Given the description of an element on the screen output the (x, y) to click on. 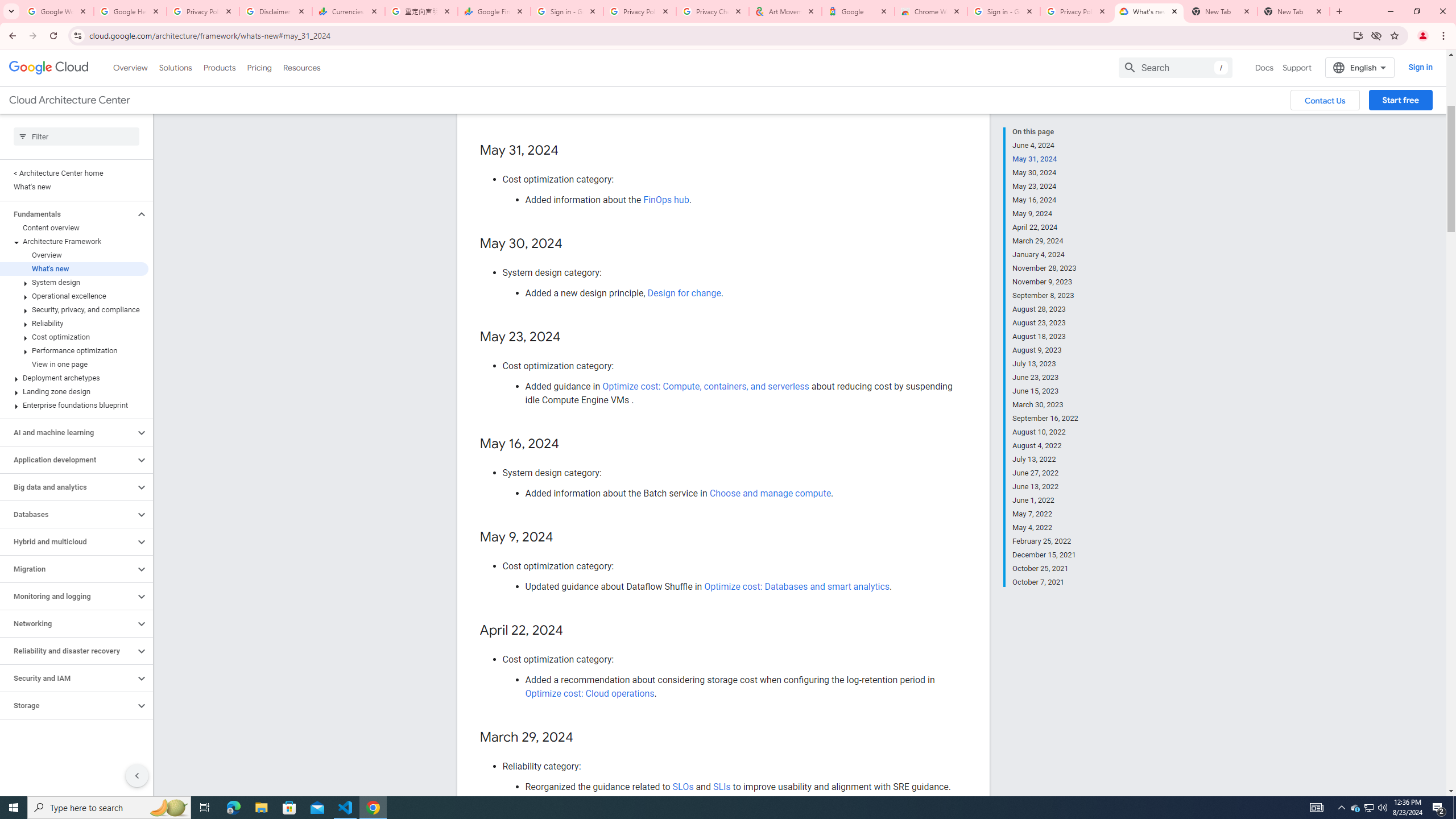
October 7, 2021 (1044, 581)
February 25, 2022 (1044, 540)
June 15, 2023 (1044, 391)
Application development (67, 459)
Cost optimization (74, 336)
June 27, 2022 (1044, 472)
August 10, 2022 (1044, 431)
